Given the description of an element on the screen output the (x, y) to click on. 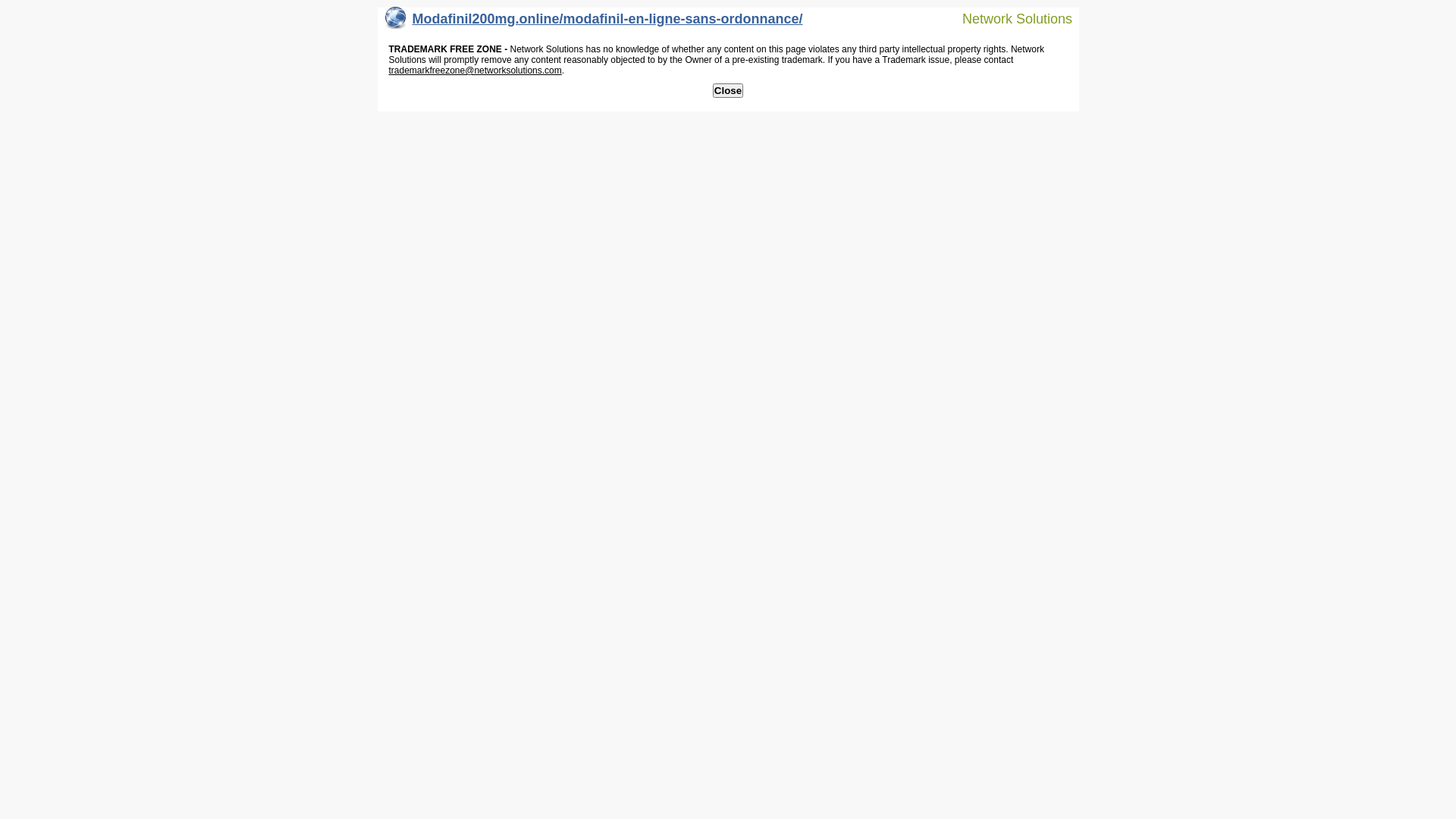
Close Element type: text (727, 90)
trademarkfreezone@networksolutions.com Element type: text (474, 70)
Network Solutions Element type: text (1007, 17)
Modafinil200mg.online/modafinil-en-ligne-sans-ordonnance/ Element type: text (594, 21)
